Given the description of an element on the screen output the (x, y) to click on. 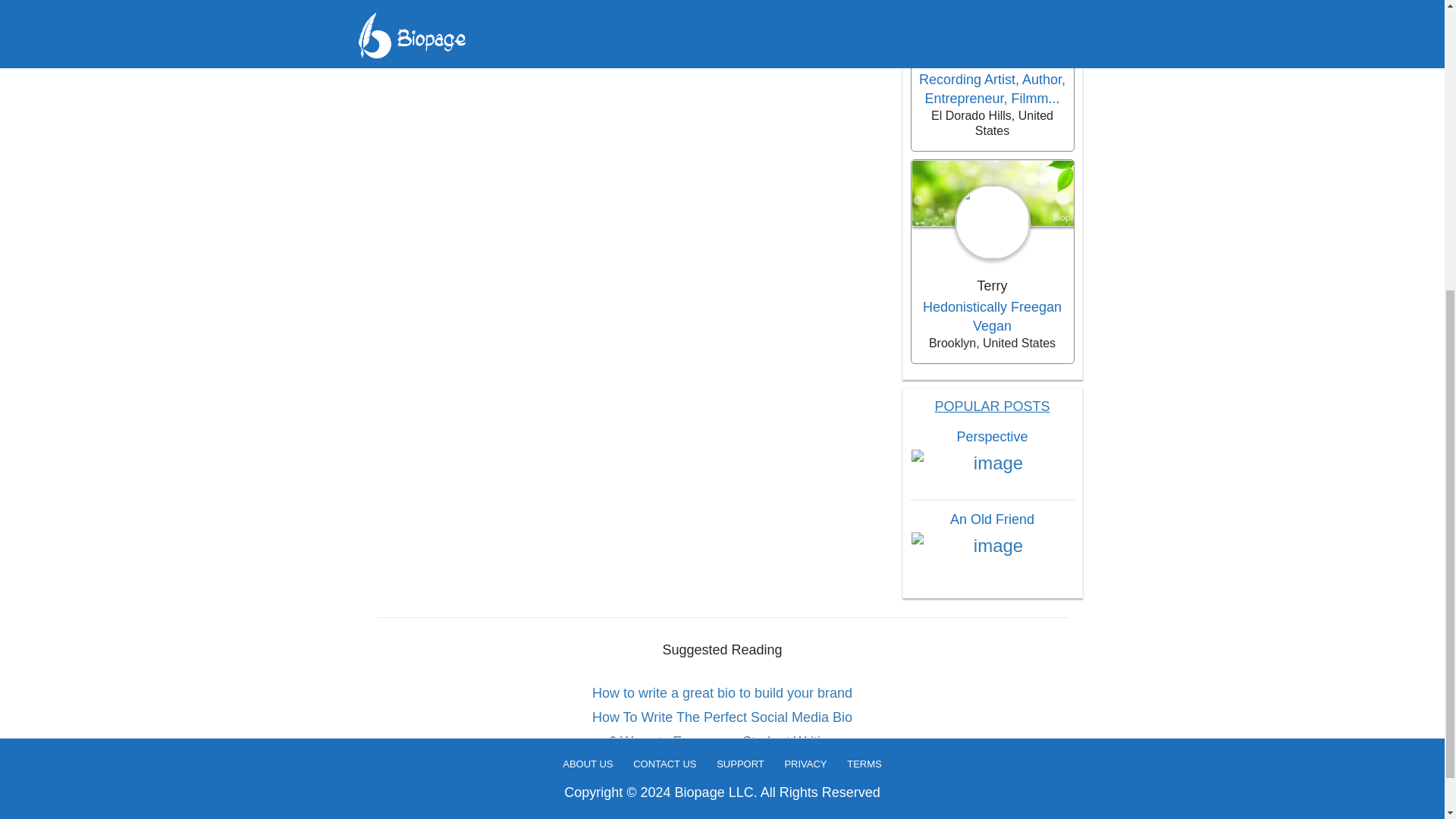
Terry (991, 286)
Jon Robert Quinn (991, 58)
Popular Posts (991, 406)
